Given the description of an element on the screen output the (x, y) to click on. 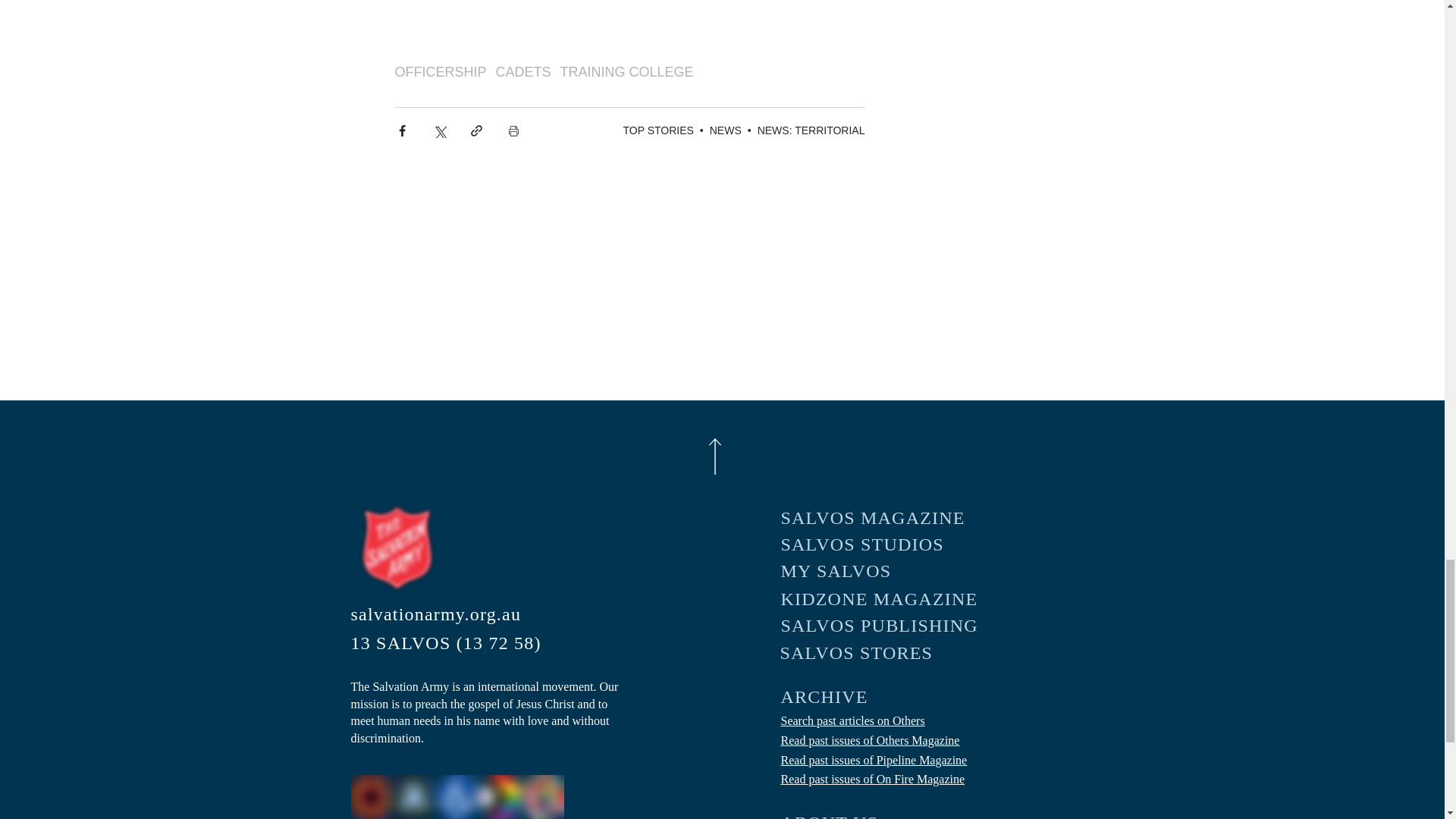
KIDZONE MAGAZINE (879, 599)
MY SALVOS (879, 570)
NEWS (725, 130)
Read past issues of Others Magazine (869, 739)
CADETS (523, 72)
salvationarmy.org.au (452, 614)
TOP STORIES (658, 130)
SALVOS STORES (878, 652)
SALVOS STUDIOS (879, 544)
SALVOS PUBLISHING (879, 625)
